Given the description of an element on the screen output the (x, y) to click on. 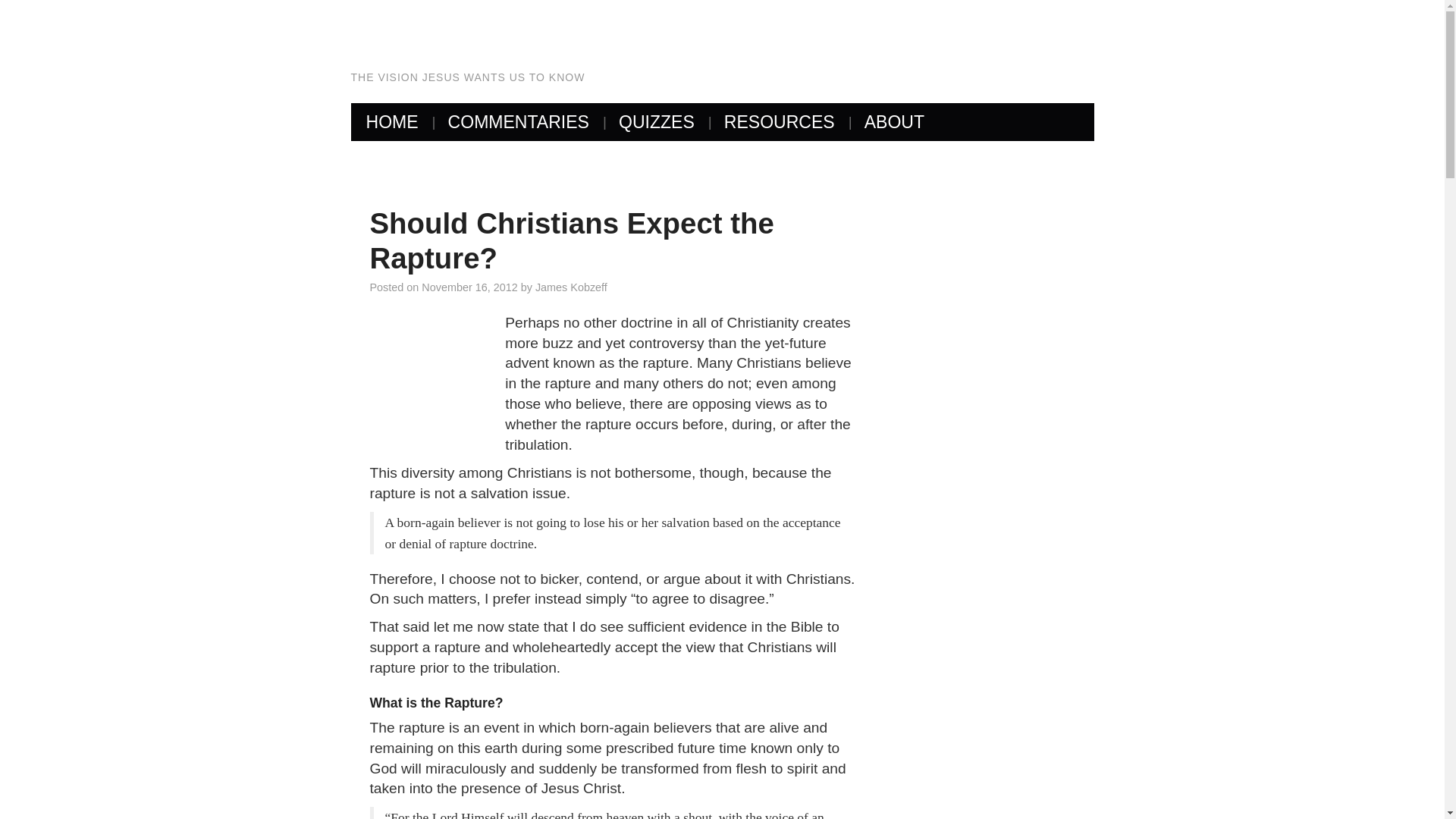
HOME (391, 121)
COMMENTARIES (518, 121)
QUIZZES (657, 121)
The Revelation (573, 40)
THE REVELATION (573, 40)
chapters (518, 121)
